Given the description of an element on the screen output the (x, y) to click on. 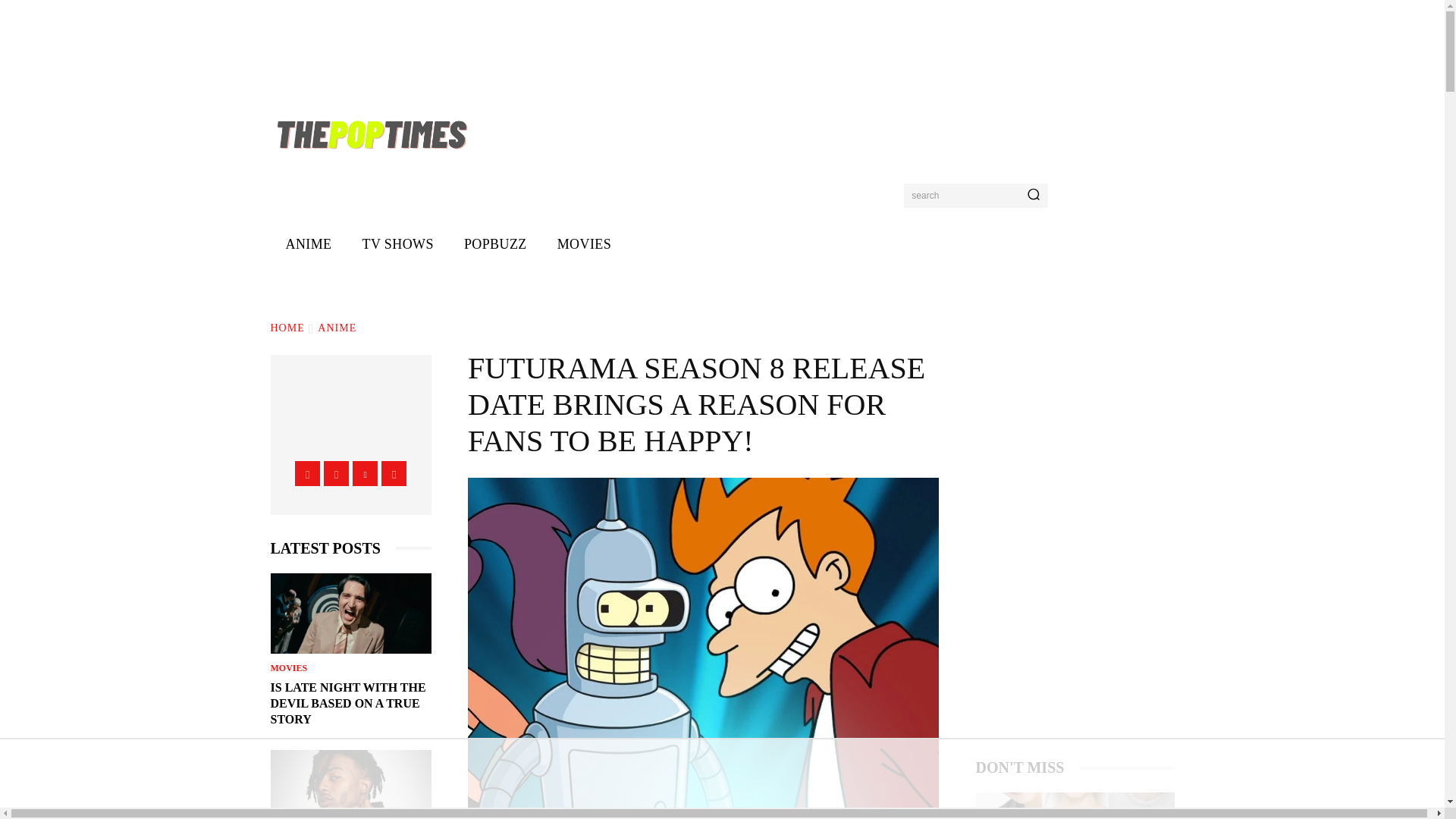
Youtube (393, 473)
Facebook (307, 473)
View all posts in Anime (336, 328)
HOME (286, 328)
IS LATE NIGHT WITH THE DEVIL BASED ON A TRUE STORY  (347, 702)
Twitter (364, 473)
Instagram (336, 473)
POPBUZZ (494, 244)
ANIME (336, 328)
SEHRISH FUZEL (368, 428)
